Given the description of an element on the screen output the (x, y) to click on. 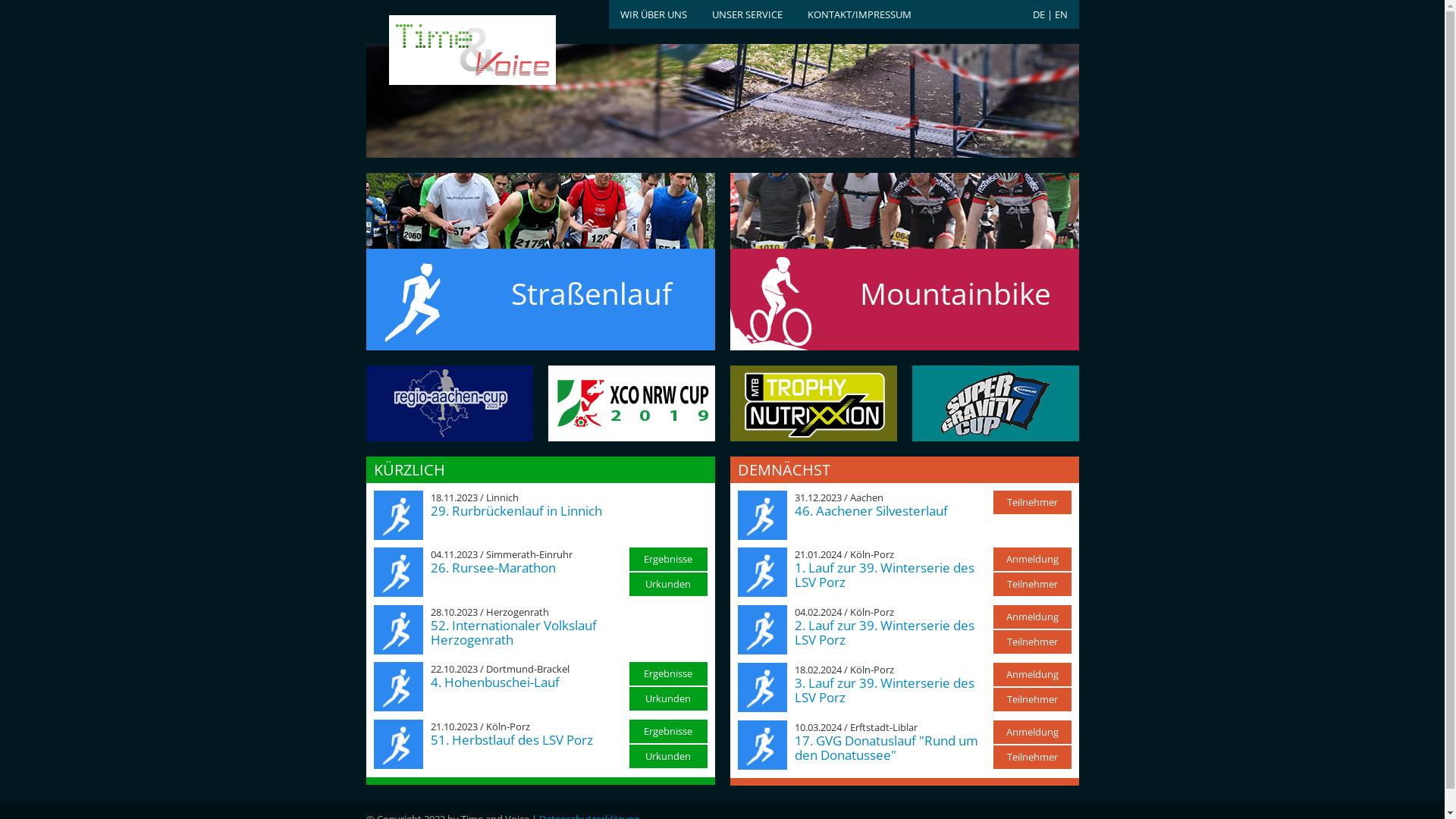
Anmeldung Element type: text (1032, 674)
4. Hohenbuschei-Lauf Element type: text (494, 681)
Urkunden Element type: text (668, 584)
26. Rursee-Marathon Element type: text (492, 567)
Teilnehmer Element type: text (1032, 502)
EN Element type: text (1060, 14)
UNSER SERVICE Element type: text (746, 14)
52. Internationaler Volkslauf Herzogenrath Element type: text (513, 632)
Time and Voice Element type: text (448, 50)
46. Aachener Silvesterlauf Element type: text (870, 510)
Anmeldung Element type: text (1032, 559)
Teilnehmer Element type: text (1032, 641)
Ergebnisse Element type: text (668, 673)
DE Element type: text (1038, 14)
Anmeldung Element type: text (1032, 616)
Ergebnisse Element type: text (668, 559)
51. Herbstlauf des LSV Porz Element type: text (511, 739)
Urkunden Element type: text (668, 698)
Teilnehmer Element type: text (1032, 584)
Anmeldung Element type: text (1032, 731)
Mountainbike Element type: text (903, 274)
2. Lauf zur 39. Winterserie des LSV Porz Element type: text (884, 632)
3. Lauf zur 39. Winterserie des LSV Porz Element type: text (884, 690)
Ergebnisse Element type: text (668, 731)
KONTAKT/IMPRESSUM Element type: text (858, 14)
Teilnehmer Element type: text (1032, 699)
17. GVG Donatuslauf "Rund um den Donatussee" Element type: text (886, 747)
1. Lauf zur 39. Winterserie des LSV Porz Element type: text (884, 574)
Teilnehmer Element type: text (1032, 756)
Urkunden Element type: text (668, 756)
